Given the description of an element on the screen output the (x, y) to click on. 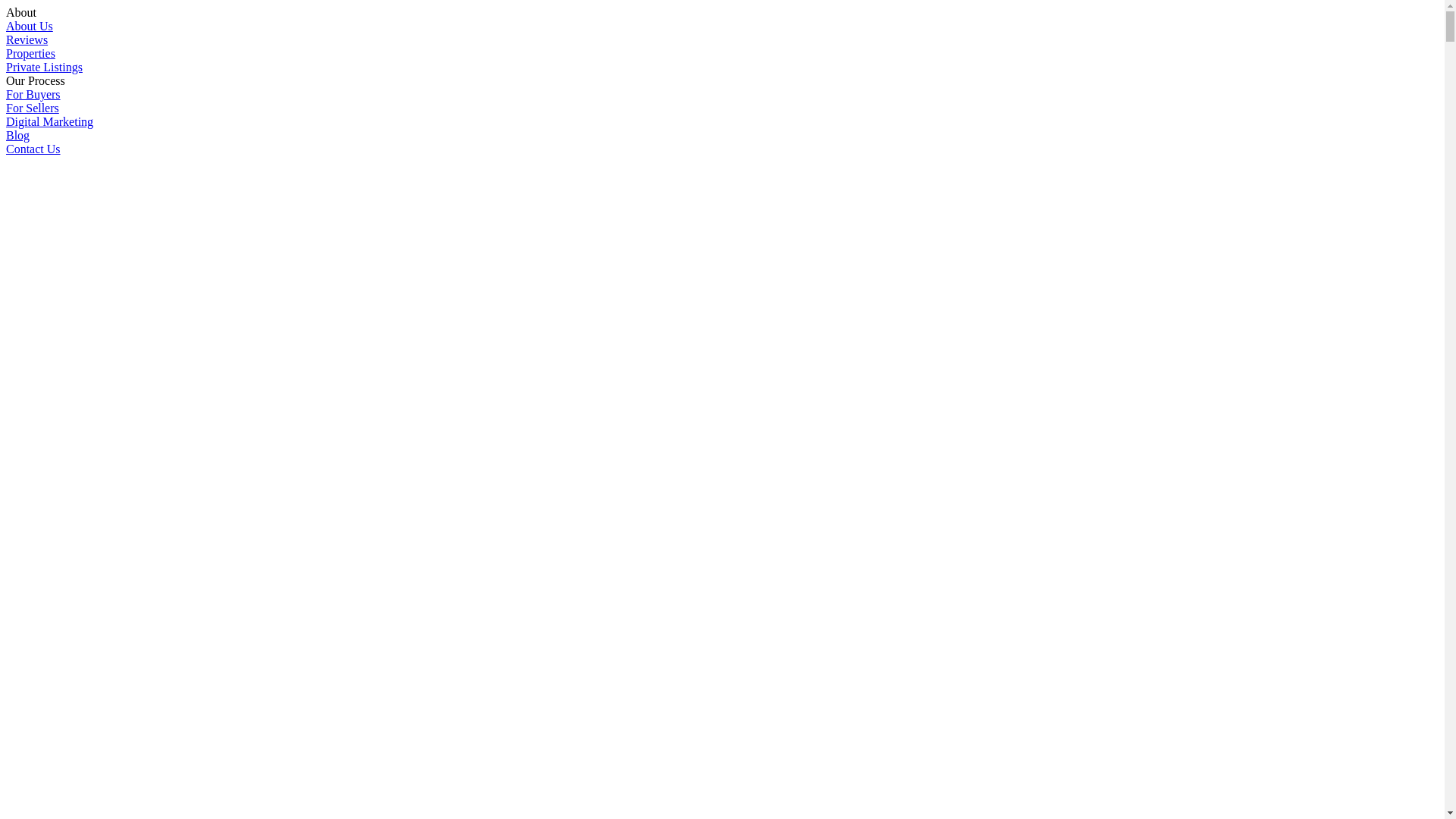
About Us Element type: text (29, 25)
Contact Us Element type: text (33, 148)
For Sellers Element type: text (32, 107)
Digital Marketing Element type: text (49, 121)
Blog Element type: text (17, 134)
Private Listings Element type: text (44, 66)
For Buyers Element type: text (33, 93)
Reviews Element type: text (26, 39)
Properties Element type: text (30, 53)
